Given the description of an element on the screen output the (x, y) to click on. 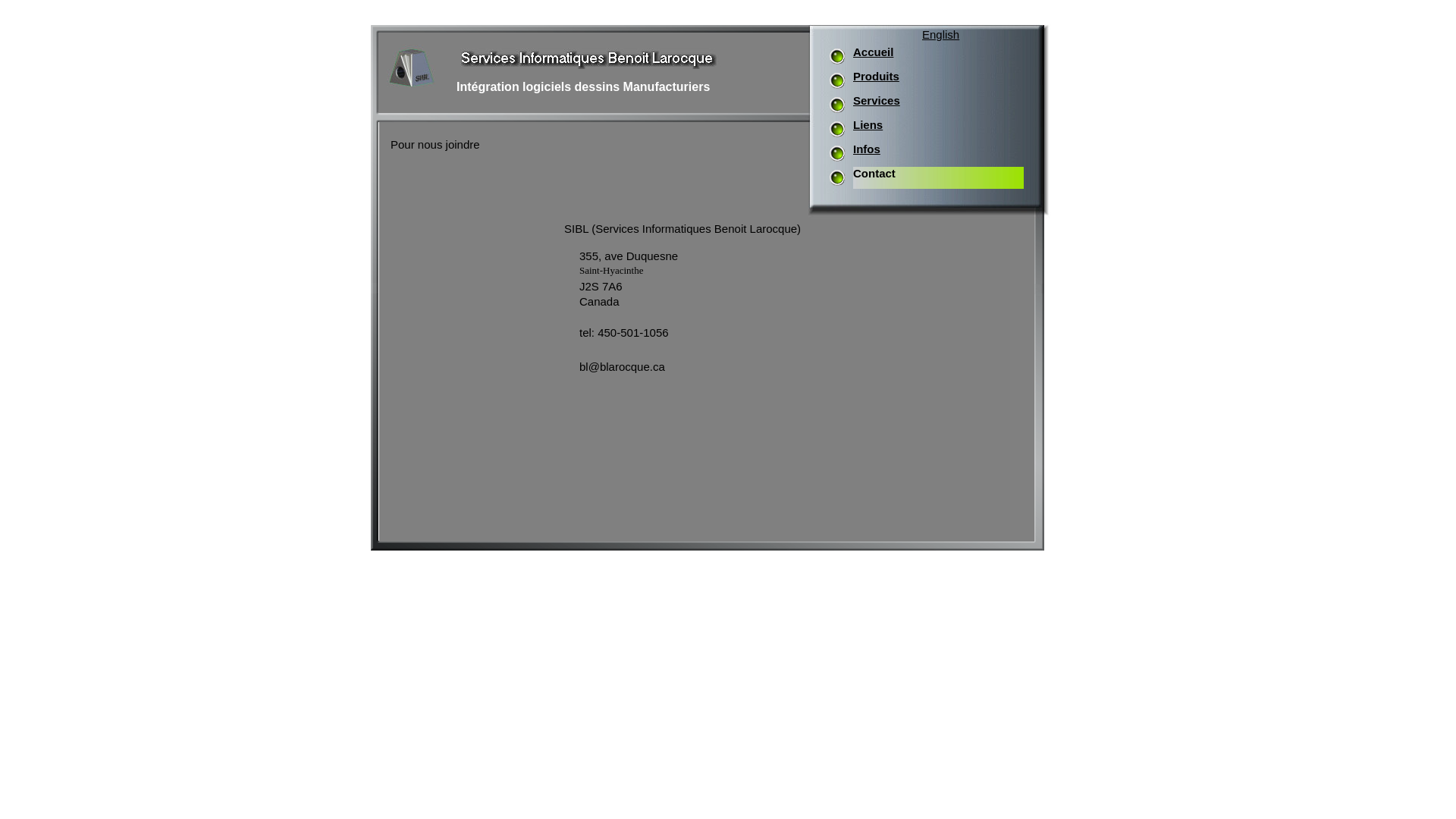
Infos Element type: text (866, 148)
Accueil Element type: text (873, 51)
English Element type: text (940, 34)
Services Element type: text (876, 100)
Liens Element type: text (867, 124)
Produits Element type: text (876, 75)
